Given the description of an element on the screen output the (x, y) to click on. 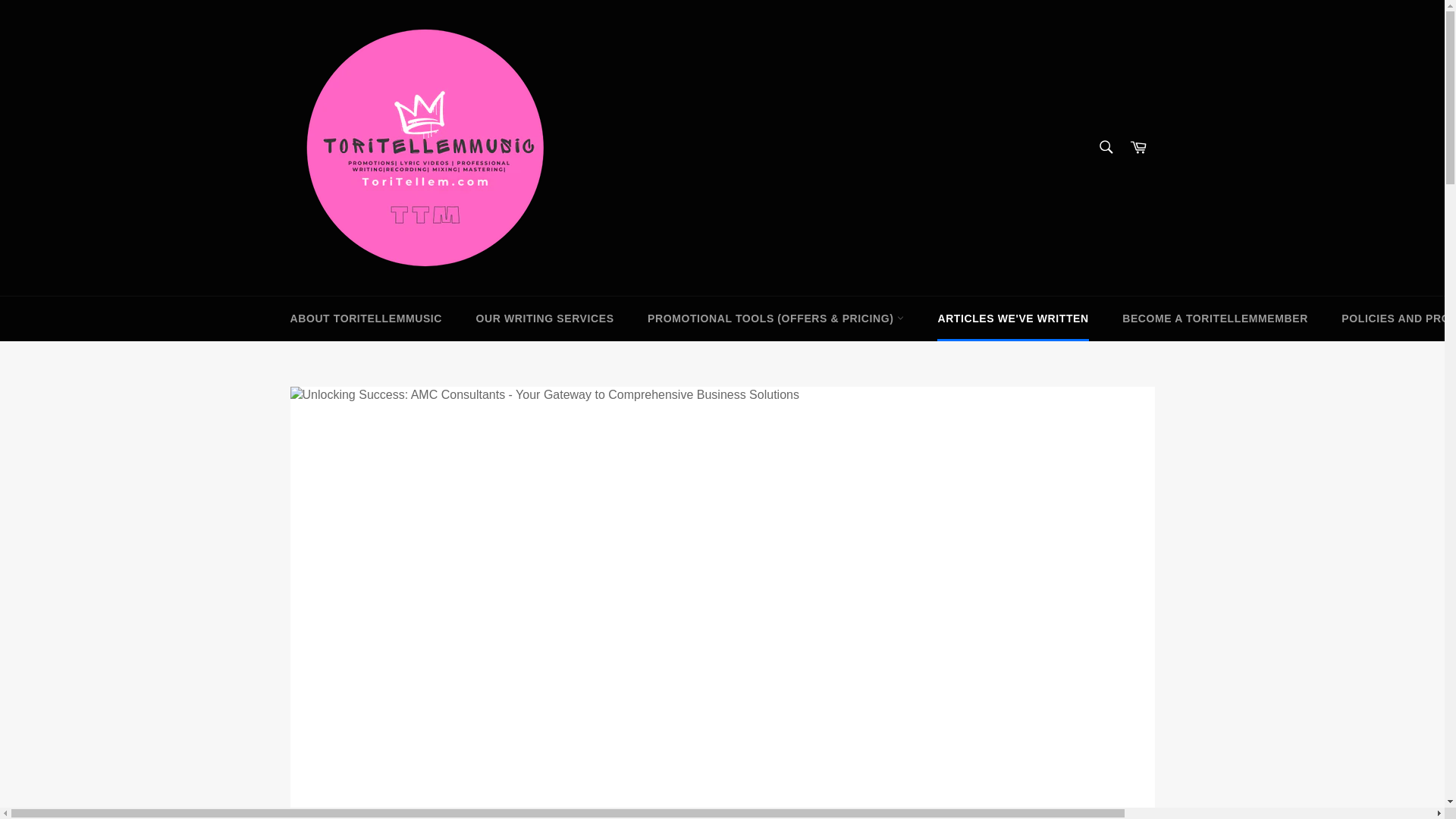
ABOUT TORITELLEMMUSIC (366, 318)
Search (1104, 146)
POLICIES AND PROCEDURES (1391, 318)
OUR WRITING SERVICES (544, 318)
Cart (1138, 147)
ARTICLES WE'VE WRITTEN (1012, 318)
BECOME A TORITELLEMMEMBER (1214, 318)
